Given the description of an element on the screen output the (x, y) to click on. 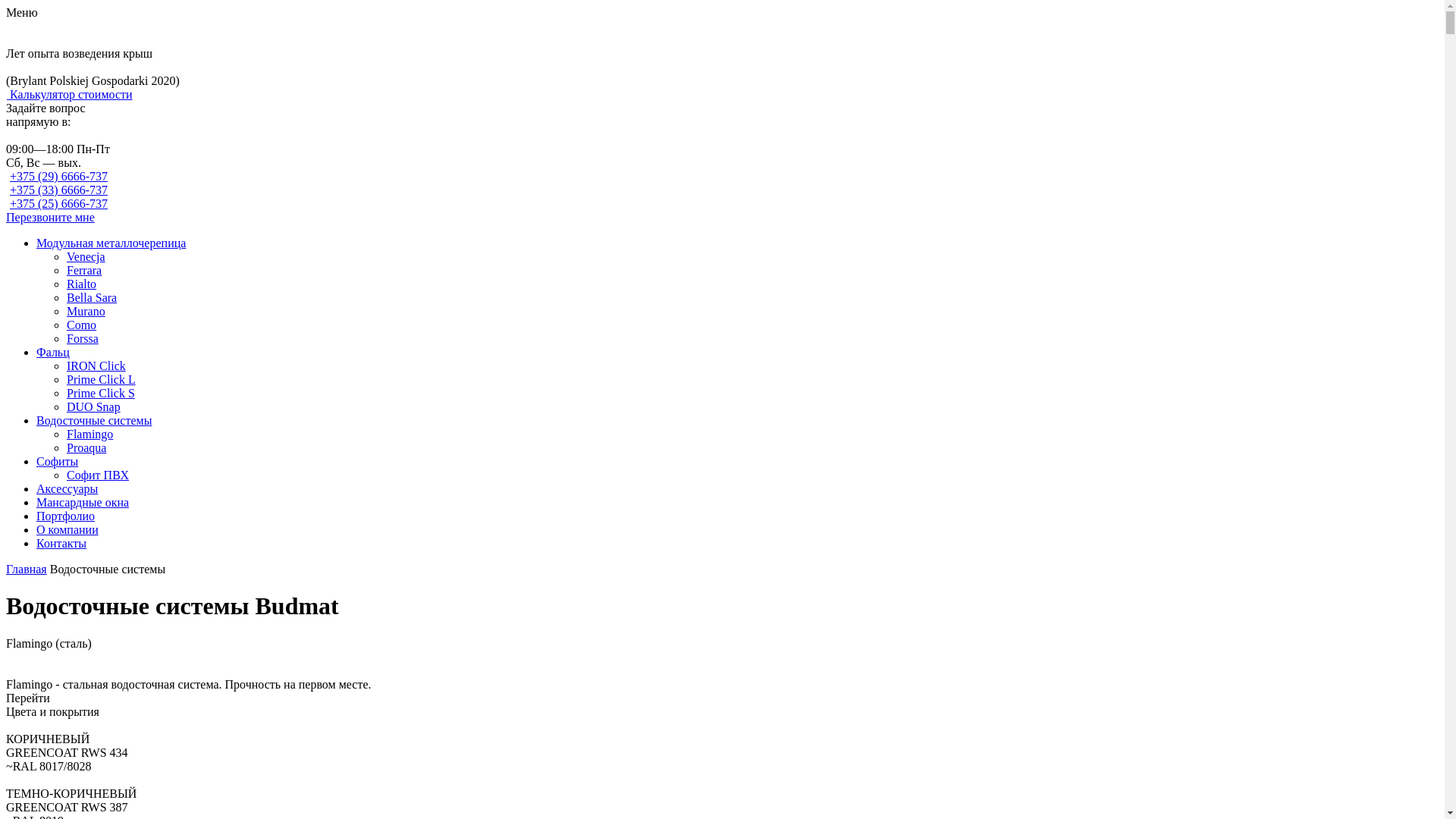
Proaqua Element type: text (86, 447)
Bella Sara Element type: text (91, 297)
DUO Snap Element type: text (93, 406)
Prime Click S Element type: text (100, 392)
Forssa Element type: text (82, 338)
+375 (29) 6666-737 Element type: text (58, 175)
Prime Click L Element type: text (100, 379)
+375 (25) 6666-737 Element type: text (58, 203)
Ferrara Element type: text (83, 269)
+375 (33) 6666-737 Element type: text (58, 189)
Murano Element type: text (85, 310)
Venecja Element type: text (85, 256)
Como Element type: text (81, 324)
IRON Click Element type: text (95, 365)
Rialto Element type: text (81, 283)
Flamingo Element type: text (89, 433)
